Given the description of an element on the screen output the (x, y) to click on. 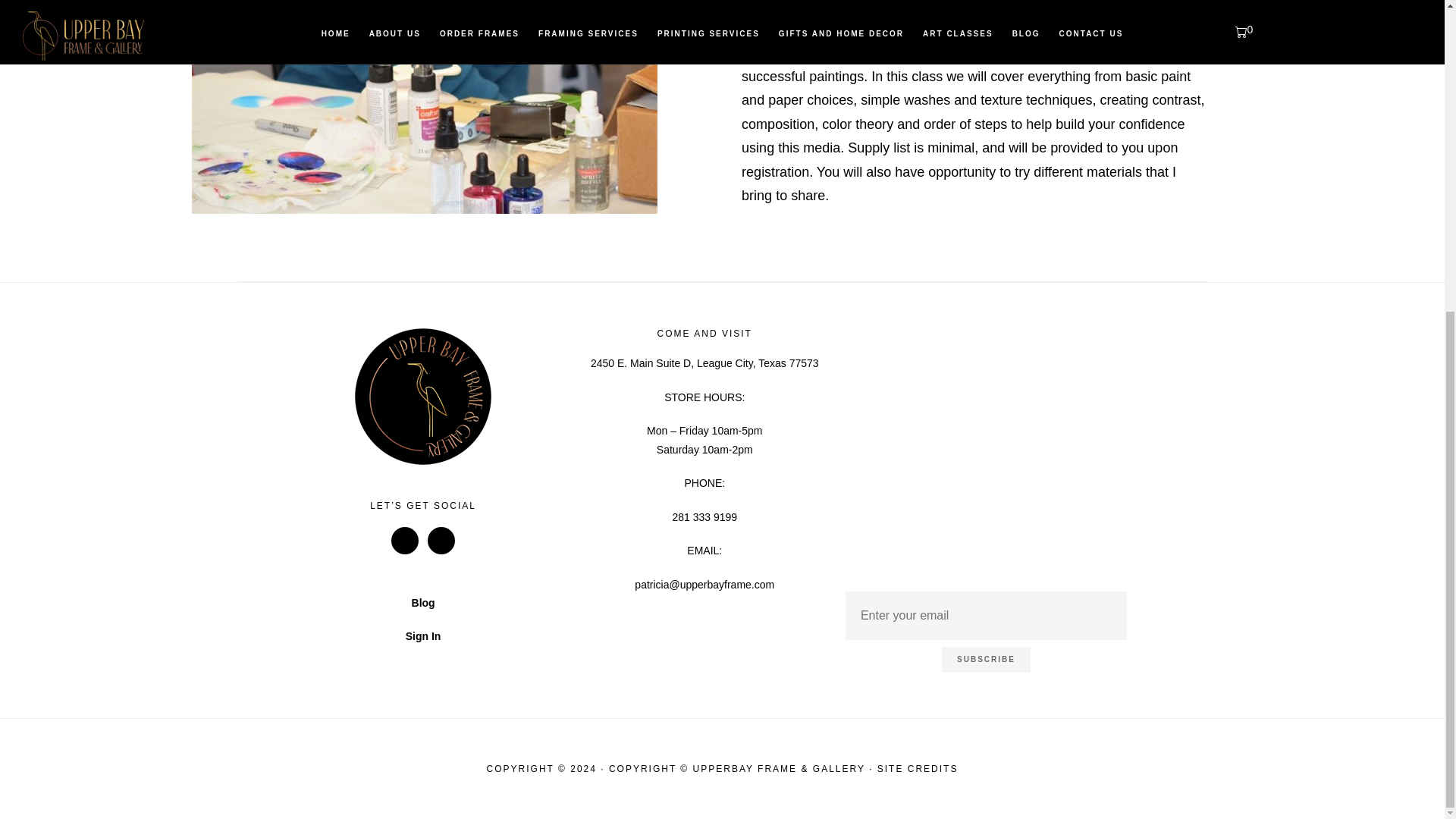
art class carla gauthier (423, 107)
Subscribe (986, 659)
281 333 9199 (703, 517)
Sign In (423, 635)
Blog (423, 603)
Subscribe (986, 659)
SITE CREDITS (917, 768)
